Given the description of an element on the screen output the (x, y) to click on. 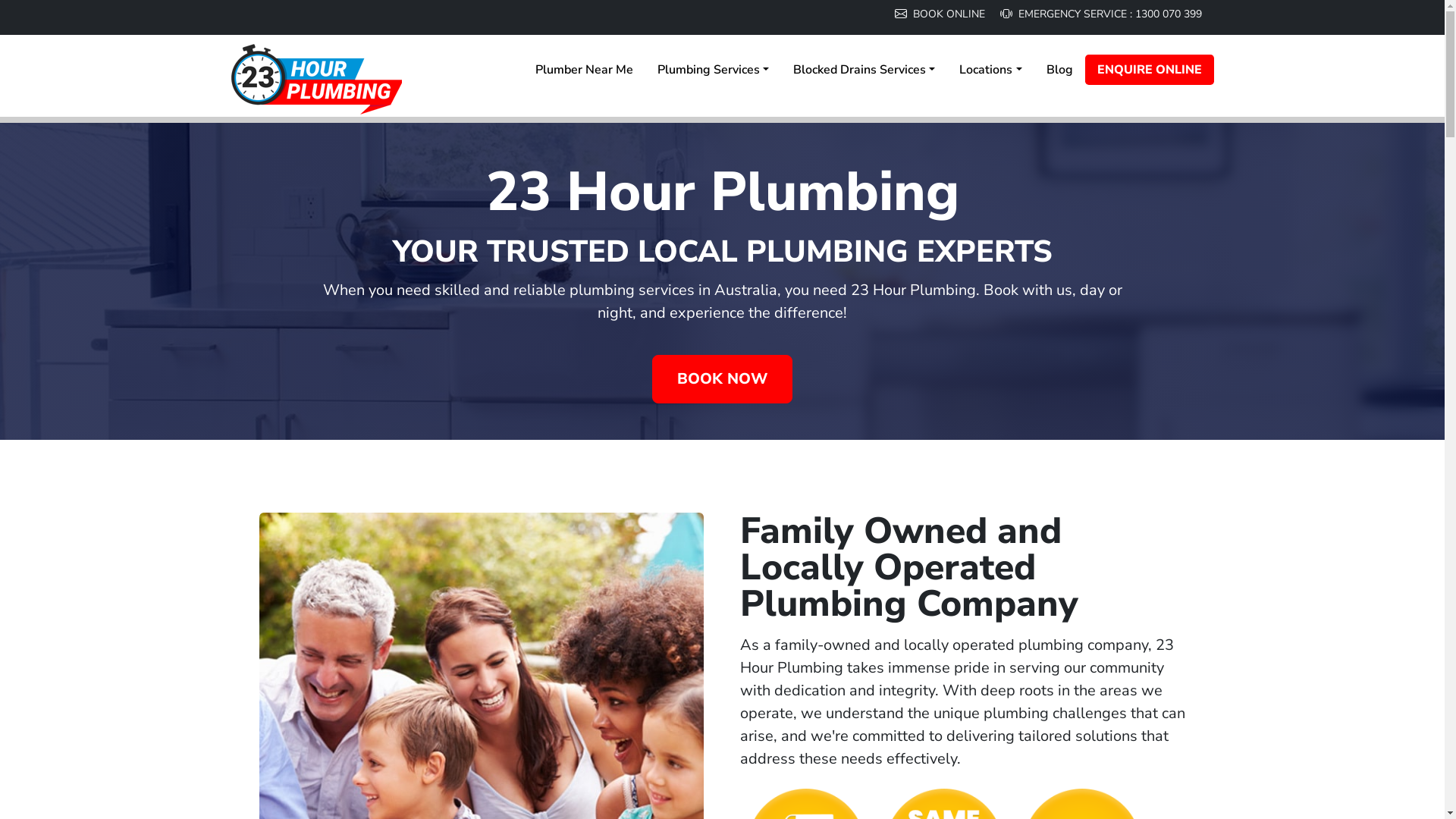
BOOK ONLINE Element type: text (941, 13)
BOOK NOW Element type: text (722, 378)
Plumbing Services Element type: text (713, 69)
Blocked Drains Services Element type: text (864, 69)
ENQUIRE ONLINE Element type: text (1149, 69)
Blog Element type: text (1059, 69)
Plumber Near Me Element type: text (584, 69)
Locations Element type: text (990, 69)
23 Hour Plumbing Element type: hover (722, 280)
EMERGENCY SERVICE : 1300 070 399 Element type: text (1100, 13)
